Given the description of an element on the screen output the (x, y) to click on. 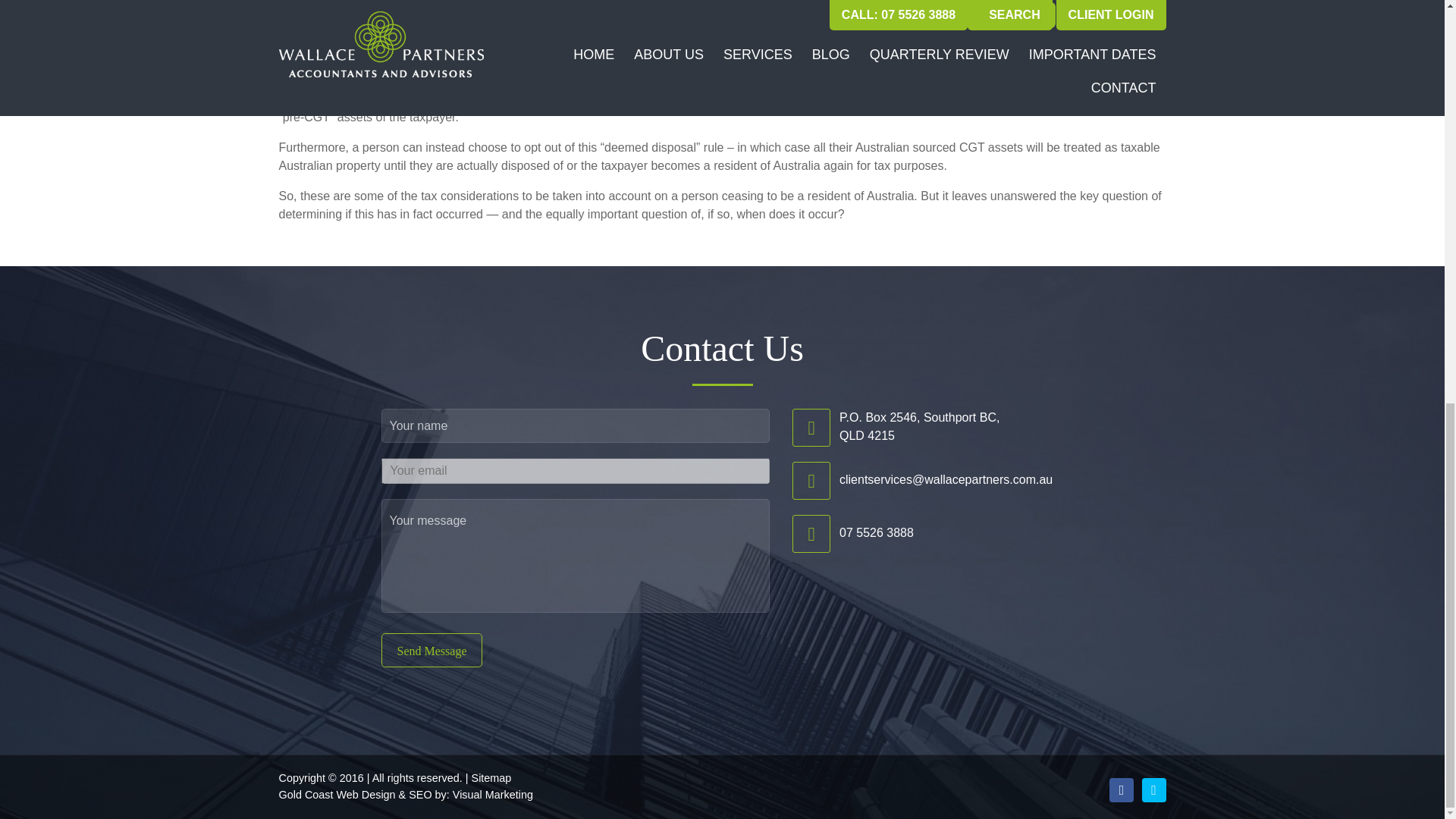
07 5526 3888 (877, 532)
Visual Marketing (492, 794)
Send Message (430, 650)
Sitemap (491, 777)
Send Message (430, 650)
